Given the description of an element on the screen output the (x, y) to click on. 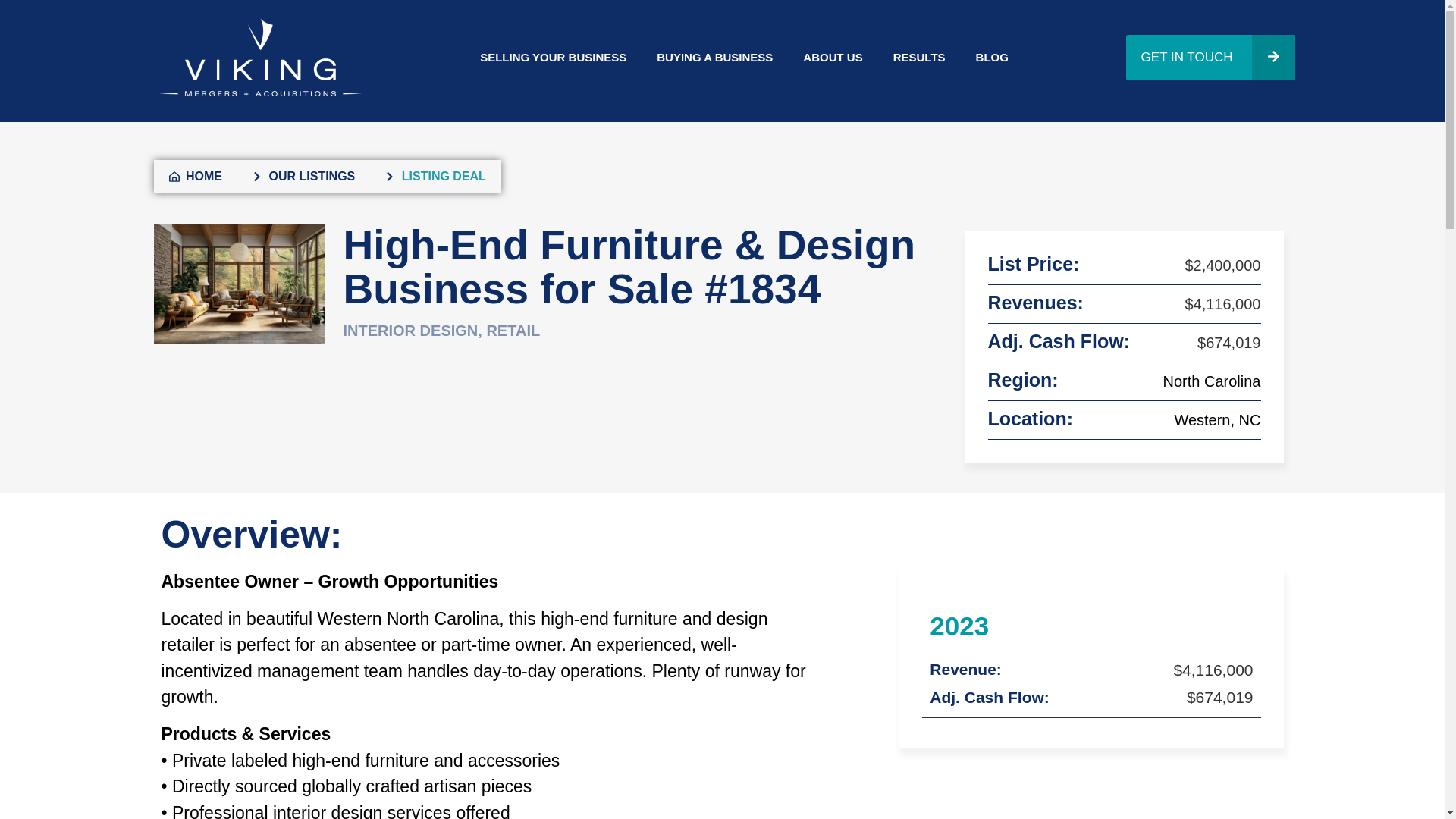
ABOUT US (832, 56)
RESULTS (918, 56)
BLOG (991, 56)
SELLING YOUR BUSINESS (553, 56)
BUYING A BUSINESS (714, 56)
